Given the description of an element on the screen output the (x, y) to click on. 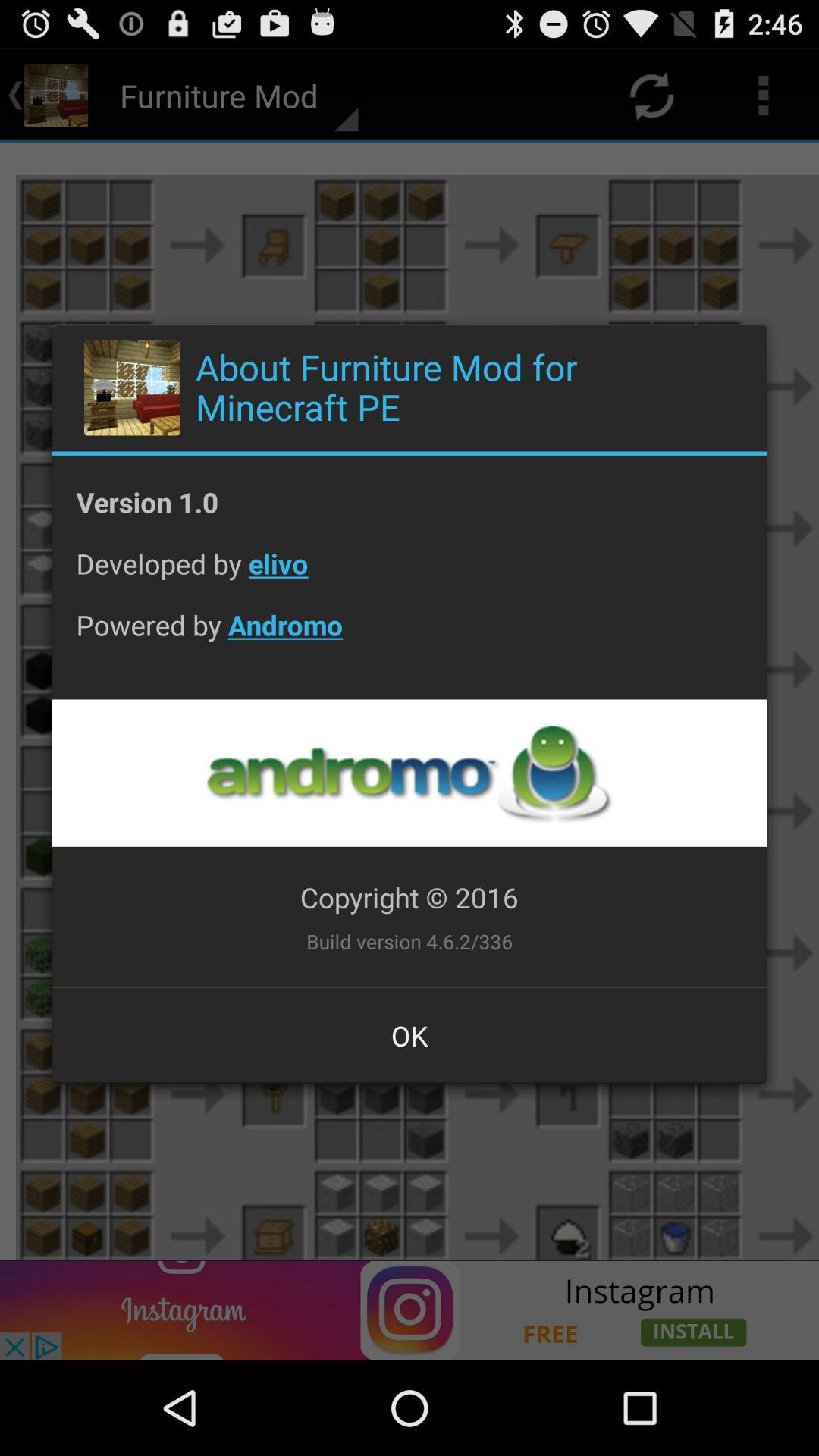
click for advertisement (408, 772)
